Given the description of an element on the screen output the (x, y) to click on. 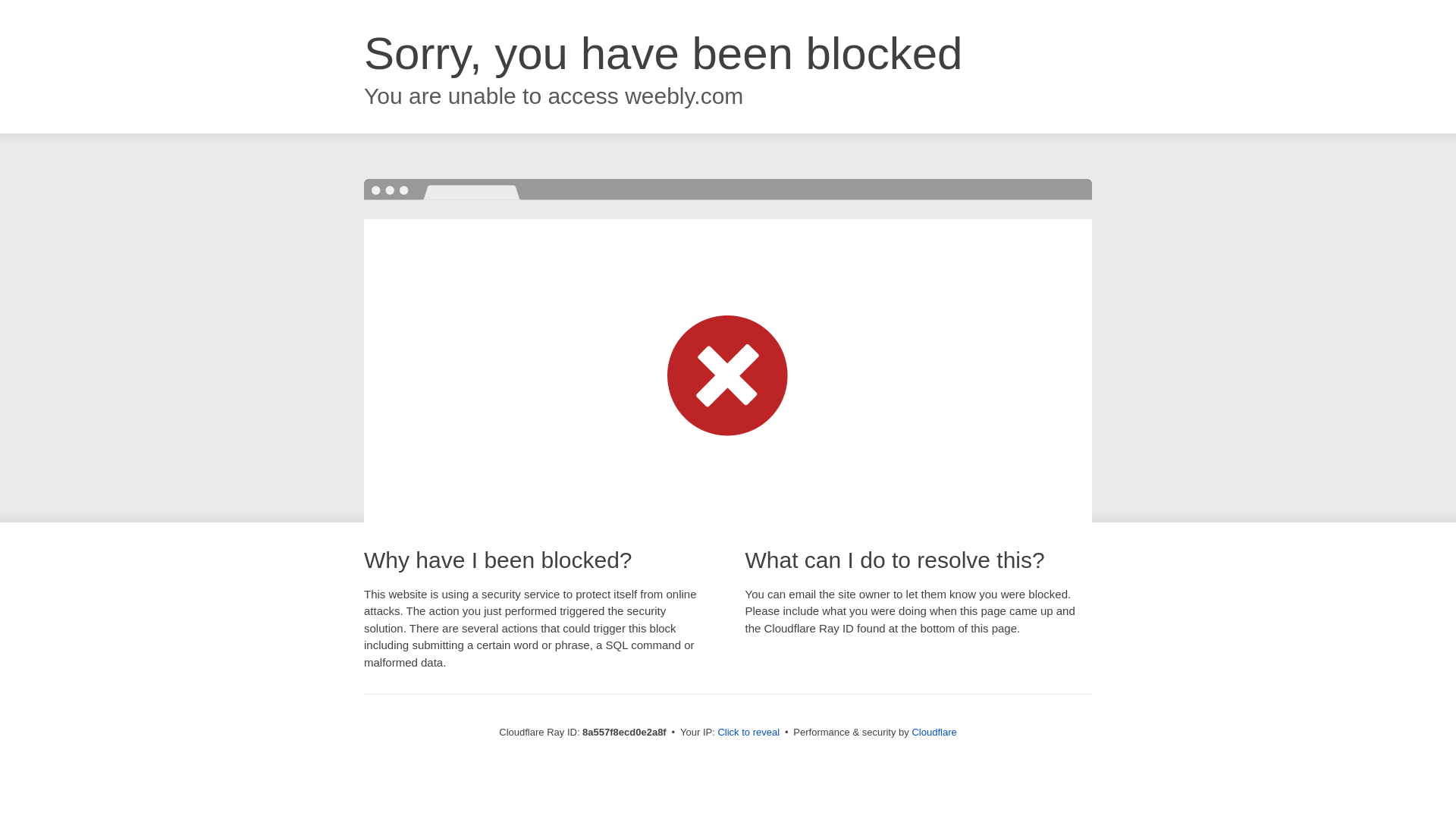
Click to reveal (747, 732)
Cloudflare (933, 731)
